Given the description of an element on the screen output the (x, y) to click on. 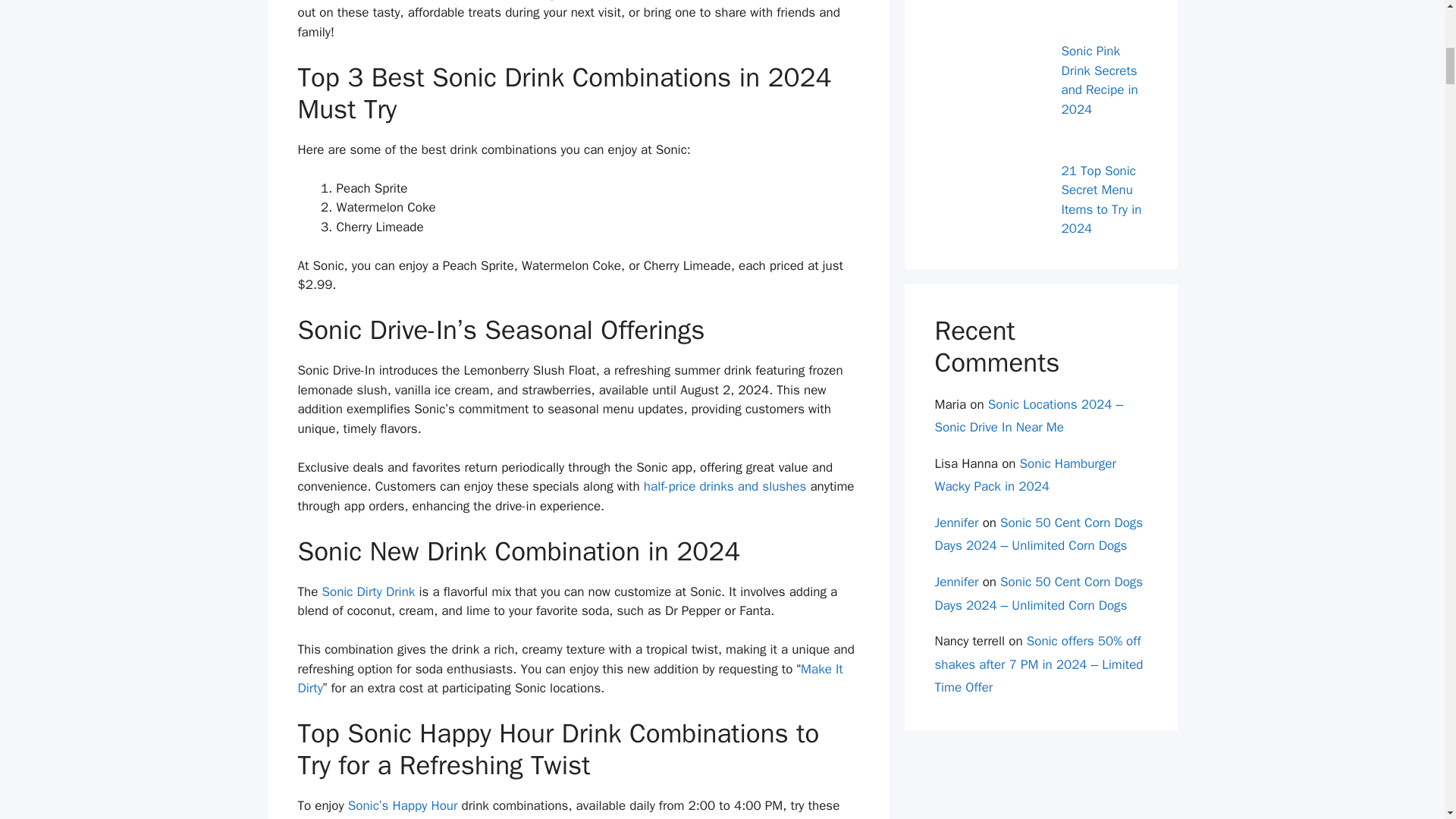
Scroll back to top (1406, 720)
Make It Dirty (570, 678)
half-price drinks and slushes (724, 486)
Sonic Dirty Drink (367, 591)
